Given the description of an element on the screen output the (x, y) to click on. 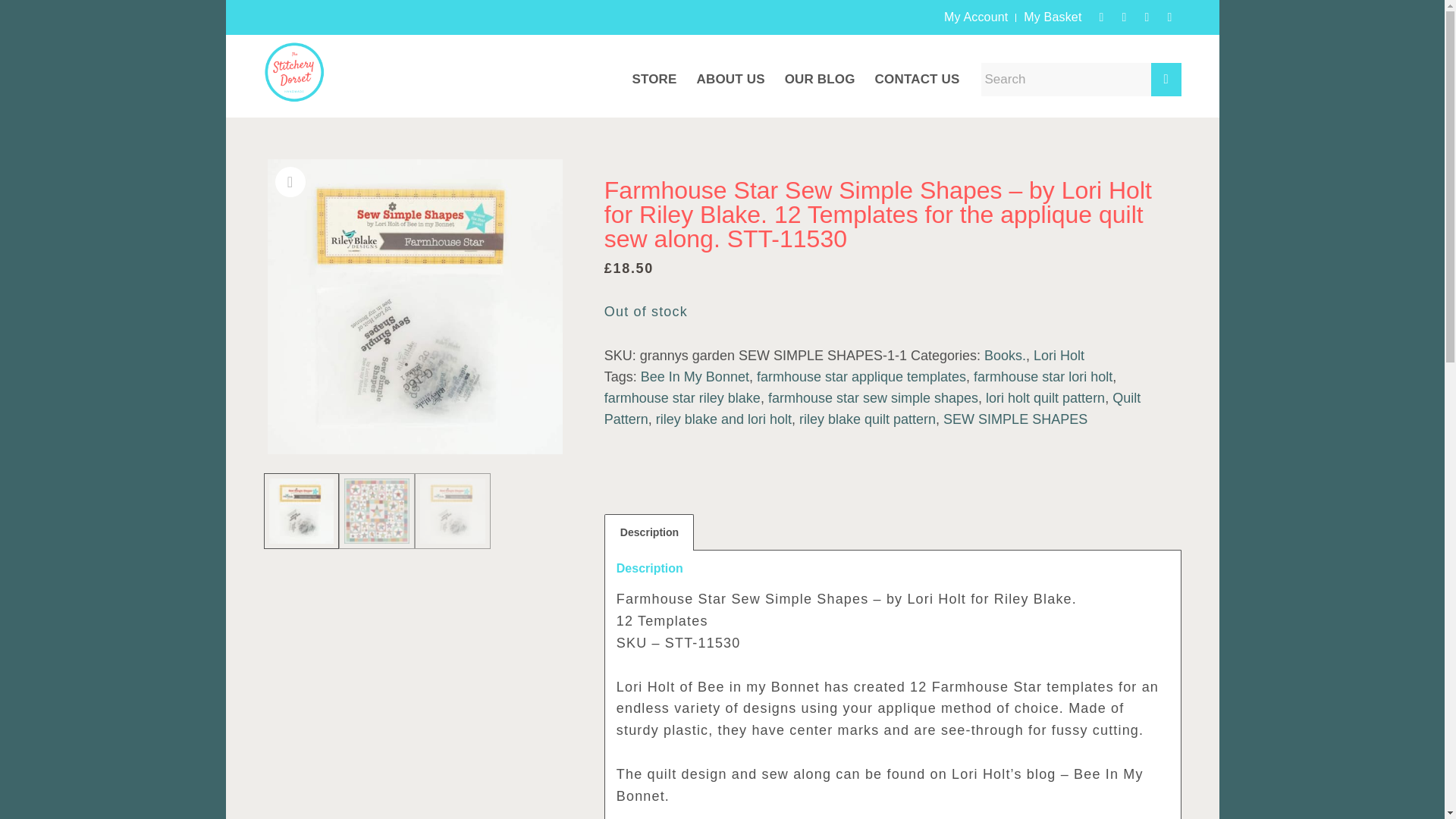
thestitchcompanyicon (293, 68)
farmhouse star applique templates (861, 376)
STORE (653, 68)
CONTACT US (916, 68)
Bee In My Bonnet (694, 376)
ABOUT US (730, 68)
OUR BLOG (819, 68)
Description (649, 532)
